Given the description of an element on the screen output the (x, y) to click on. 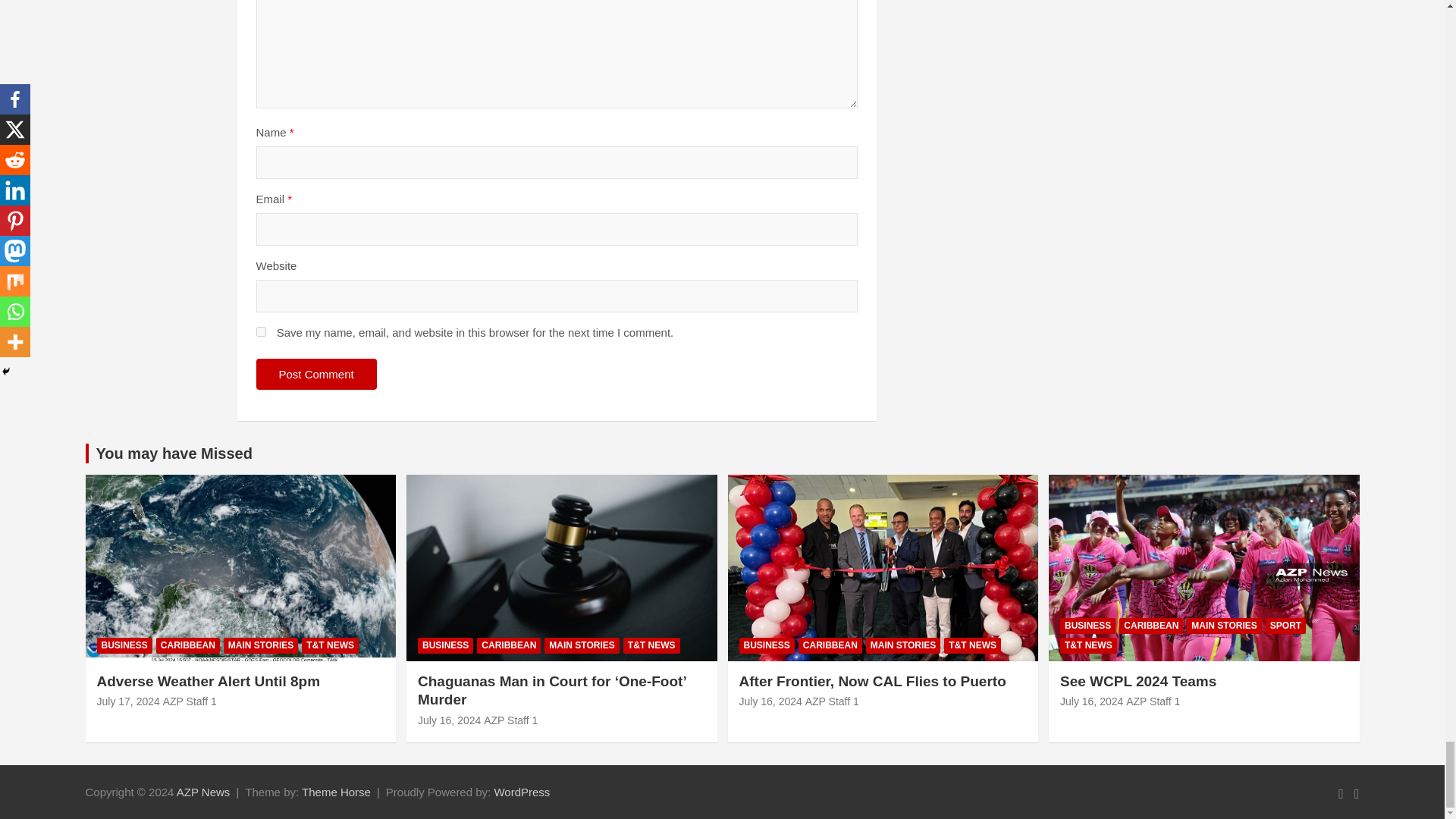
Post Comment (316, 373)
yes (261, 331)
